Given the description of an element on the screen output the (x, y) to click on. 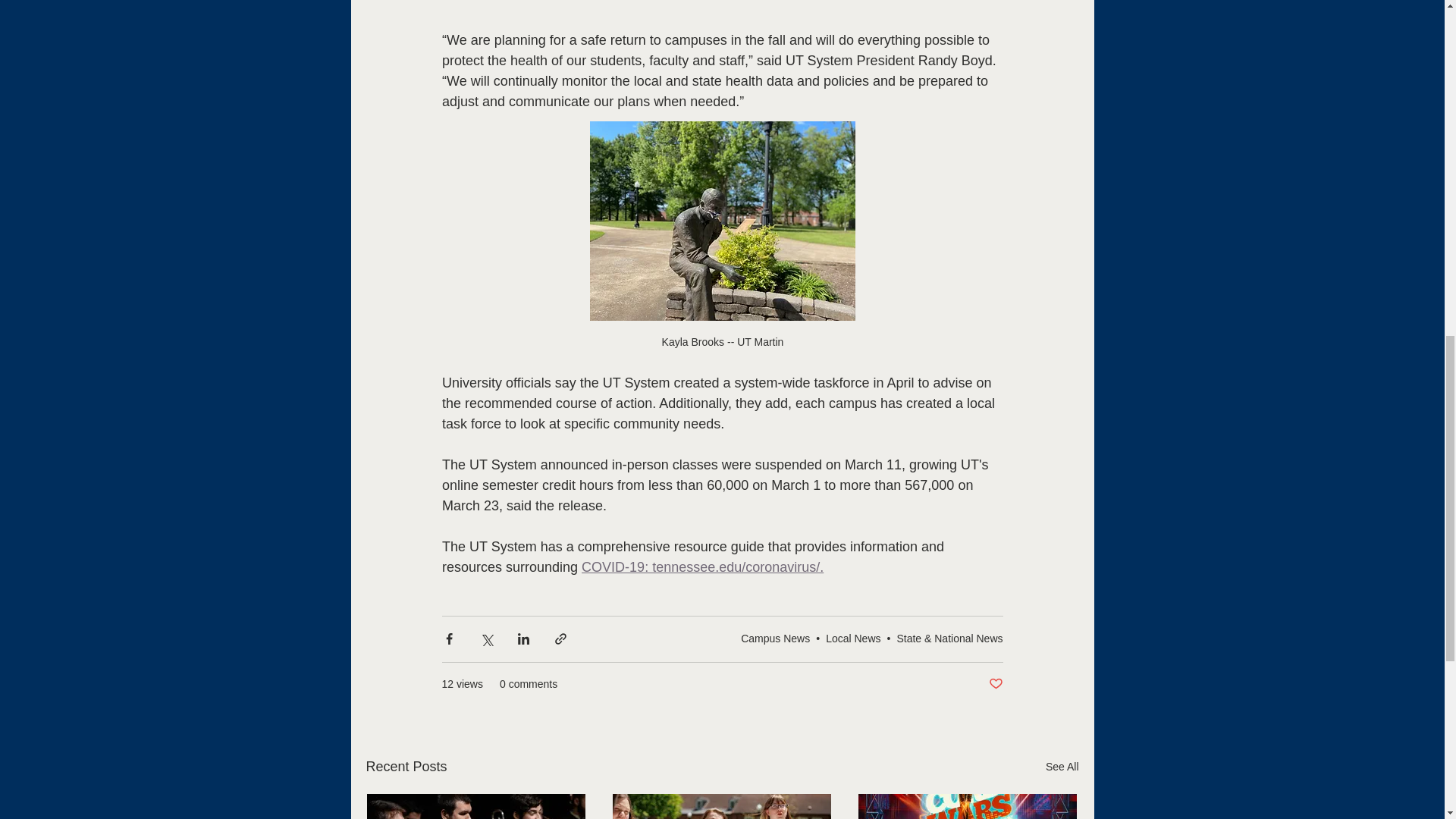
Campus News (775, 638)
Local News (852, 638)
